Given the description of an element on the screen output the (x, y) to click on. 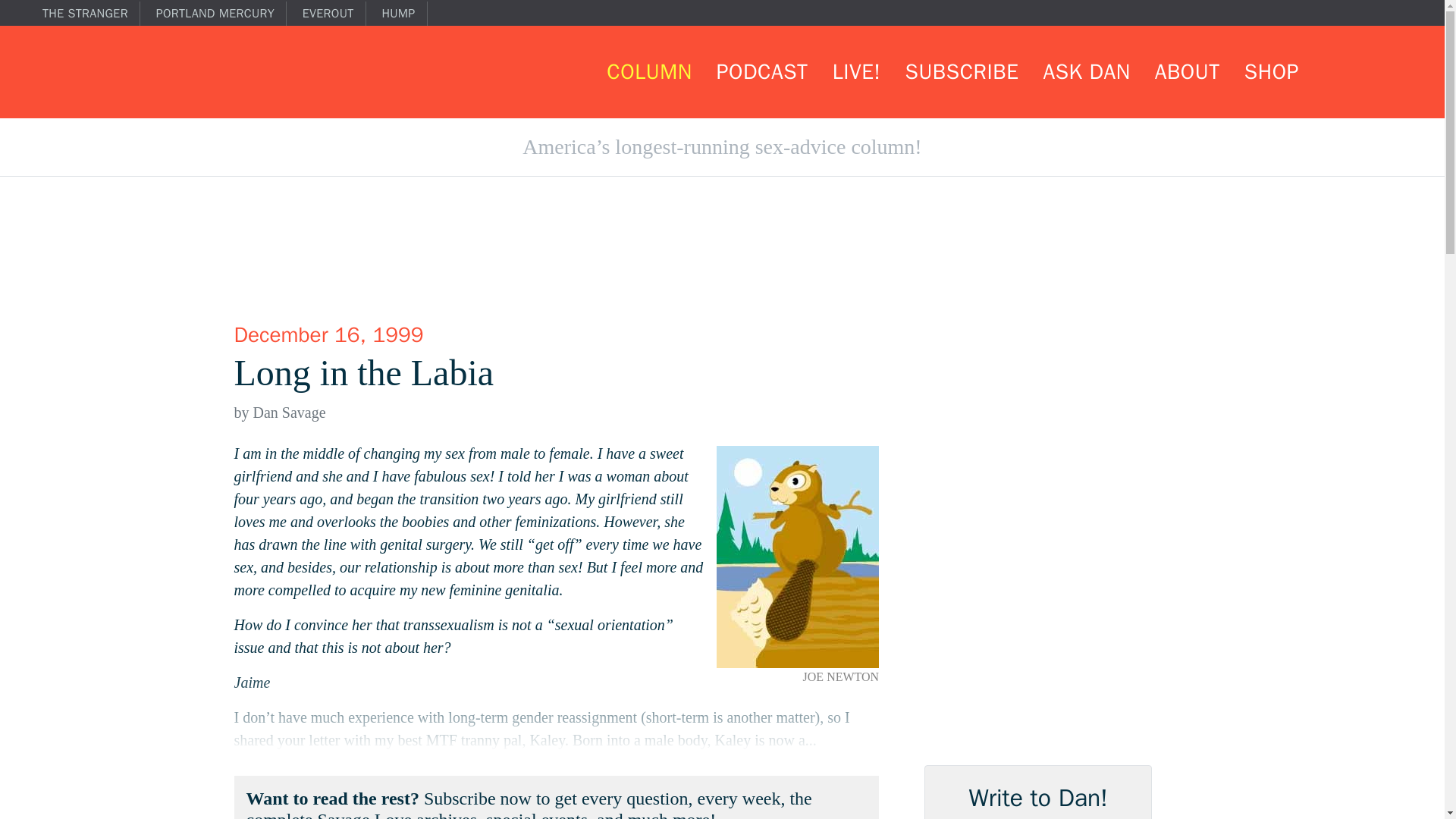
Hump (403, 13)
Column (648, 71)
Podcast (761, 71)
HUMP (403, 13)
PODCAST (761, 71)
Subscribe (961, 71)
ABOUT (1186, 71)
Portland Mercury (220, 13)
Shop (1271, 71)
LIVE! (856, 71)
